Given the description of an element on the screen output the (x, y) to click on. 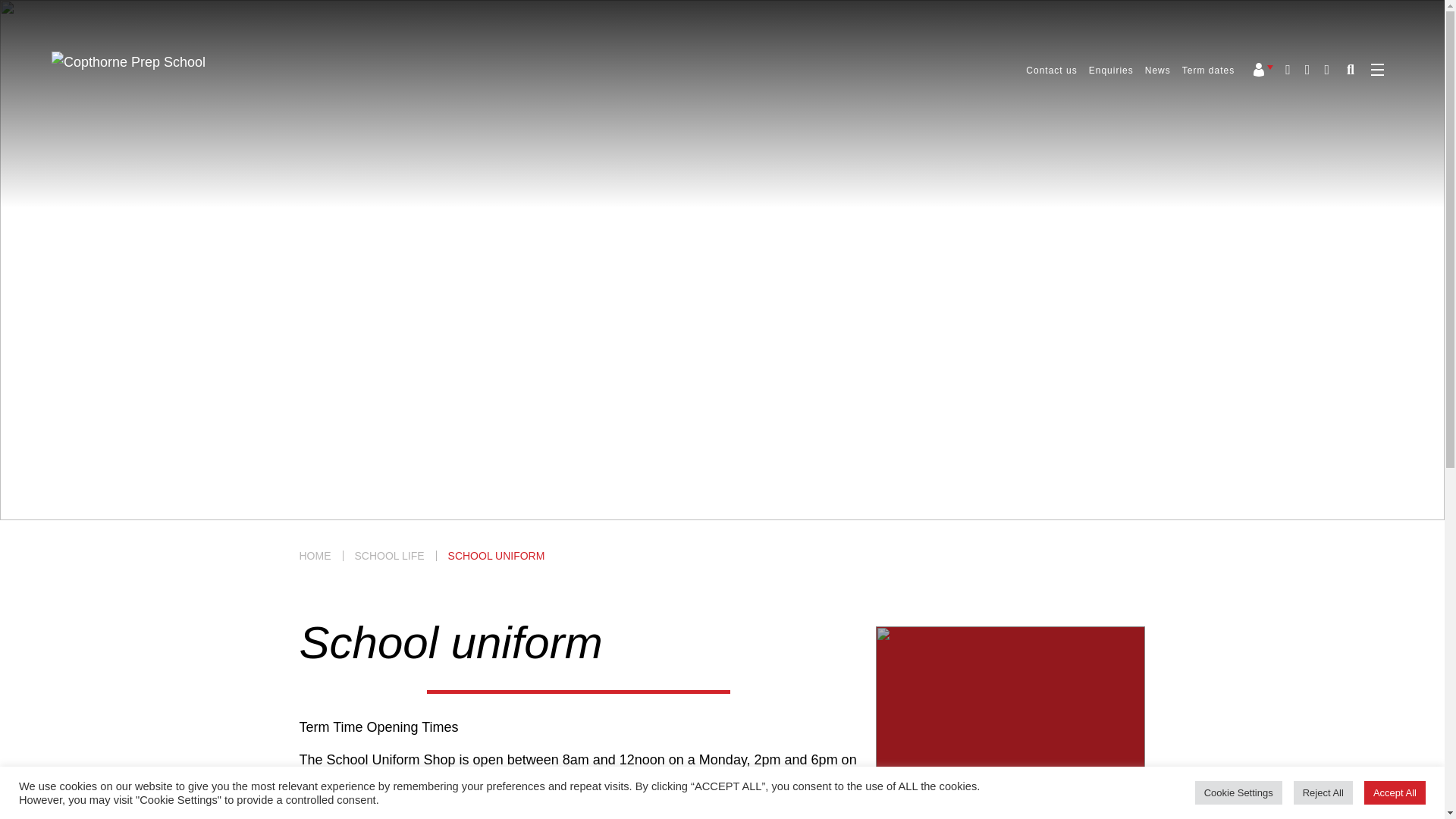
Term dates (1208, 70)
Contact us (1051, 70)
Go to School life. (390, 555)
Enquiries (1111, 70)
News (1157, 70)
Go to Copthorne Prep School. (314, 555)
